Given the description of an element on the screen output the (x, y) to click on. 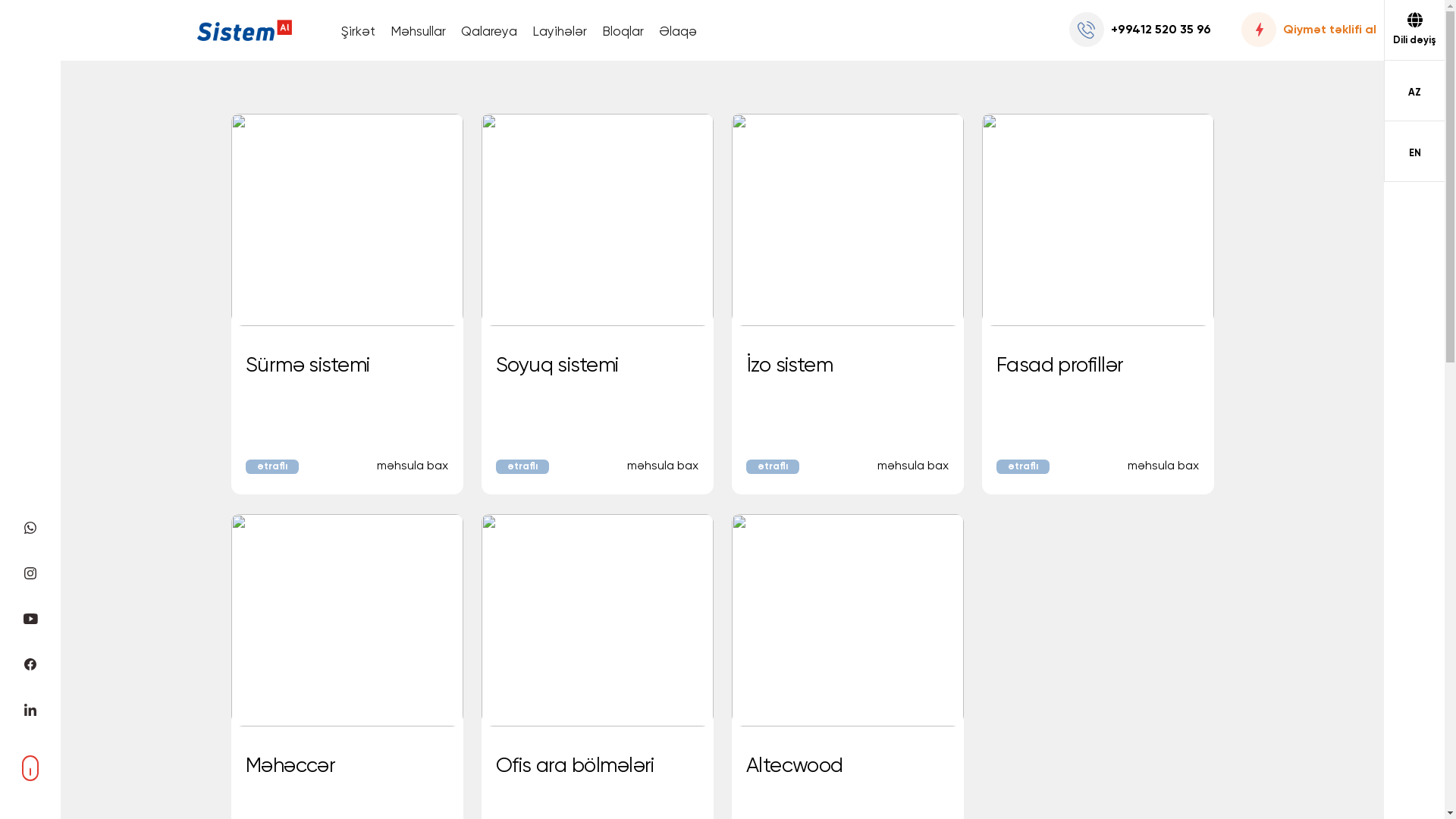
Bloqlar Element type: text (622, 41)
EN Element type: text (1413, 151)
+99412 520 35 96 Element type: text (1143, 30)
Qalareya Element type: text (488, 41)
AZ Element type: text (1413, 90)
